Given the description of an element on the screen output the (x, y) to click on. 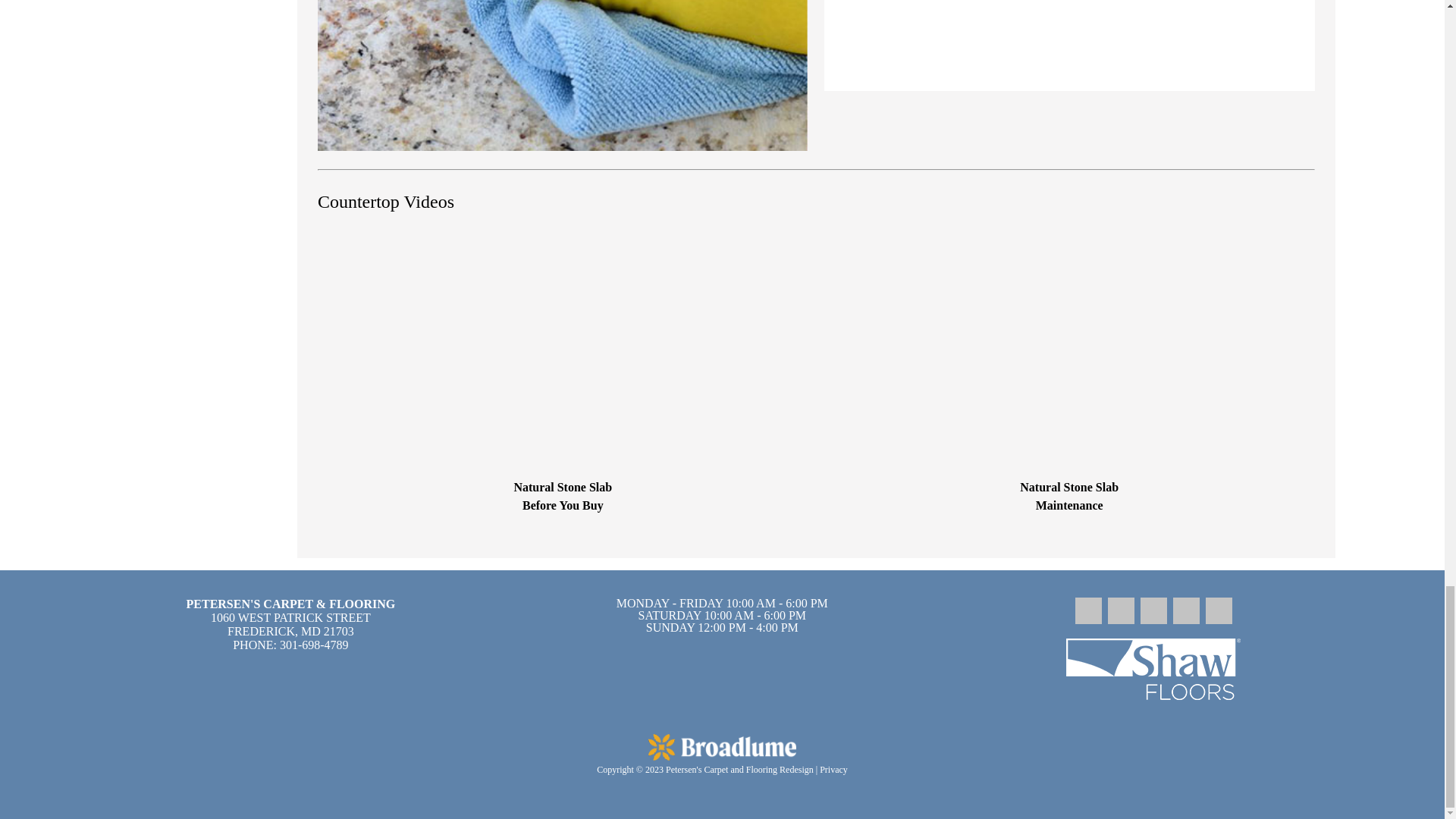
yelp (1186, 619)
YouTube video player (1069, 356)
houzz (1153, 619)
Privacy Policy (833, 769)
twitter (1218, 619)
facebook (1120, 619)
YouTube video player (562, 356)
blog (1088, 619)
